Given the description of an element on the screen output the (x, y) to click on. 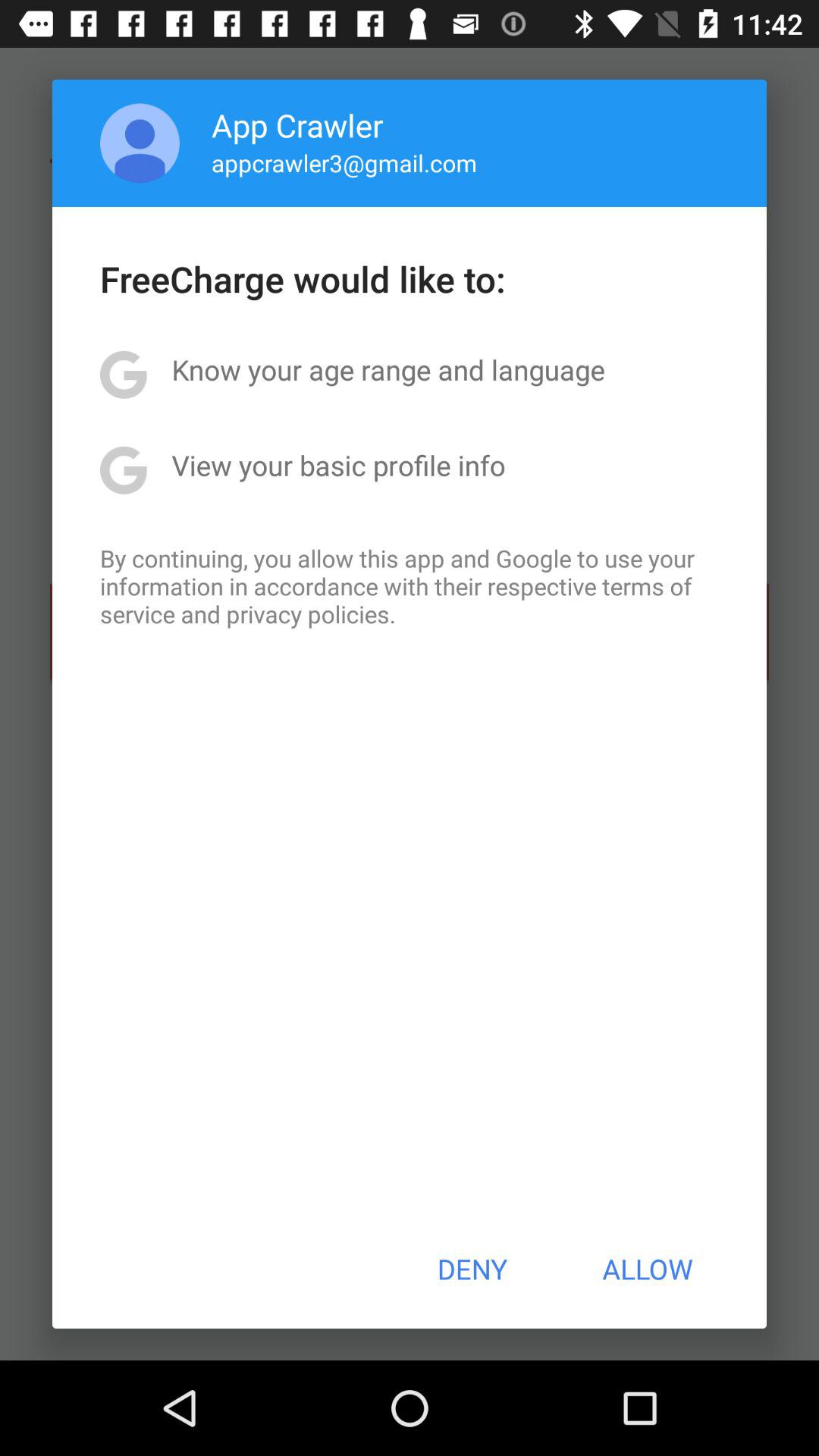
open the app to the left of the app crawler item (139, 143)
